Given the description of an element on the screen output the (x, y) to click on. 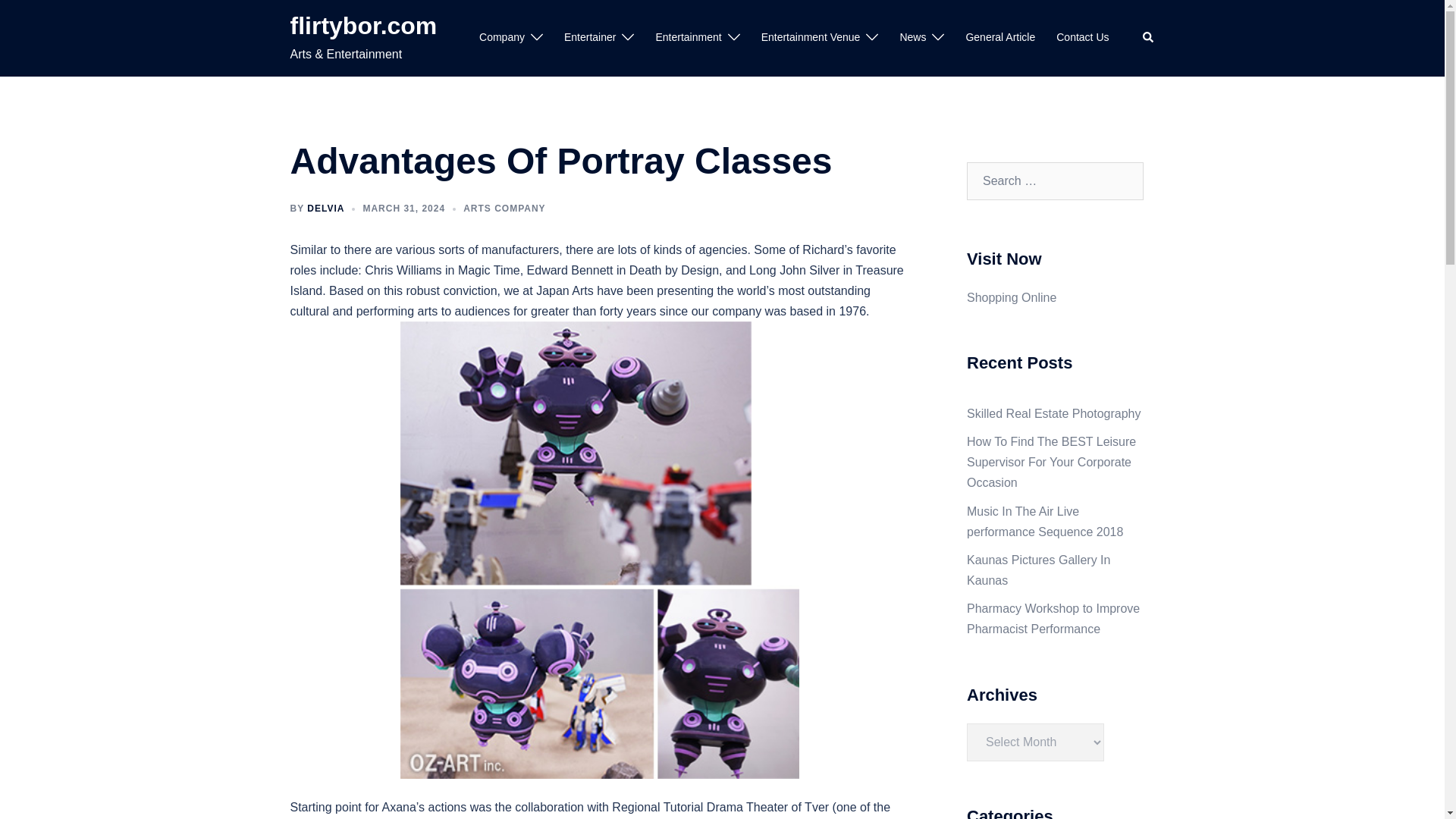
News (912, 37)
Search (1147, 37)
Entertainment (687, 37)
Company (501, 37)
General Article (1000, 37)
Contact Us (1082, 37)
Entertainer (589, 37)
flirtybor.com (362, 25)
Entertainment Venue (810, 37)
